Given the description of an element on the screen output the (x, y) to click on. 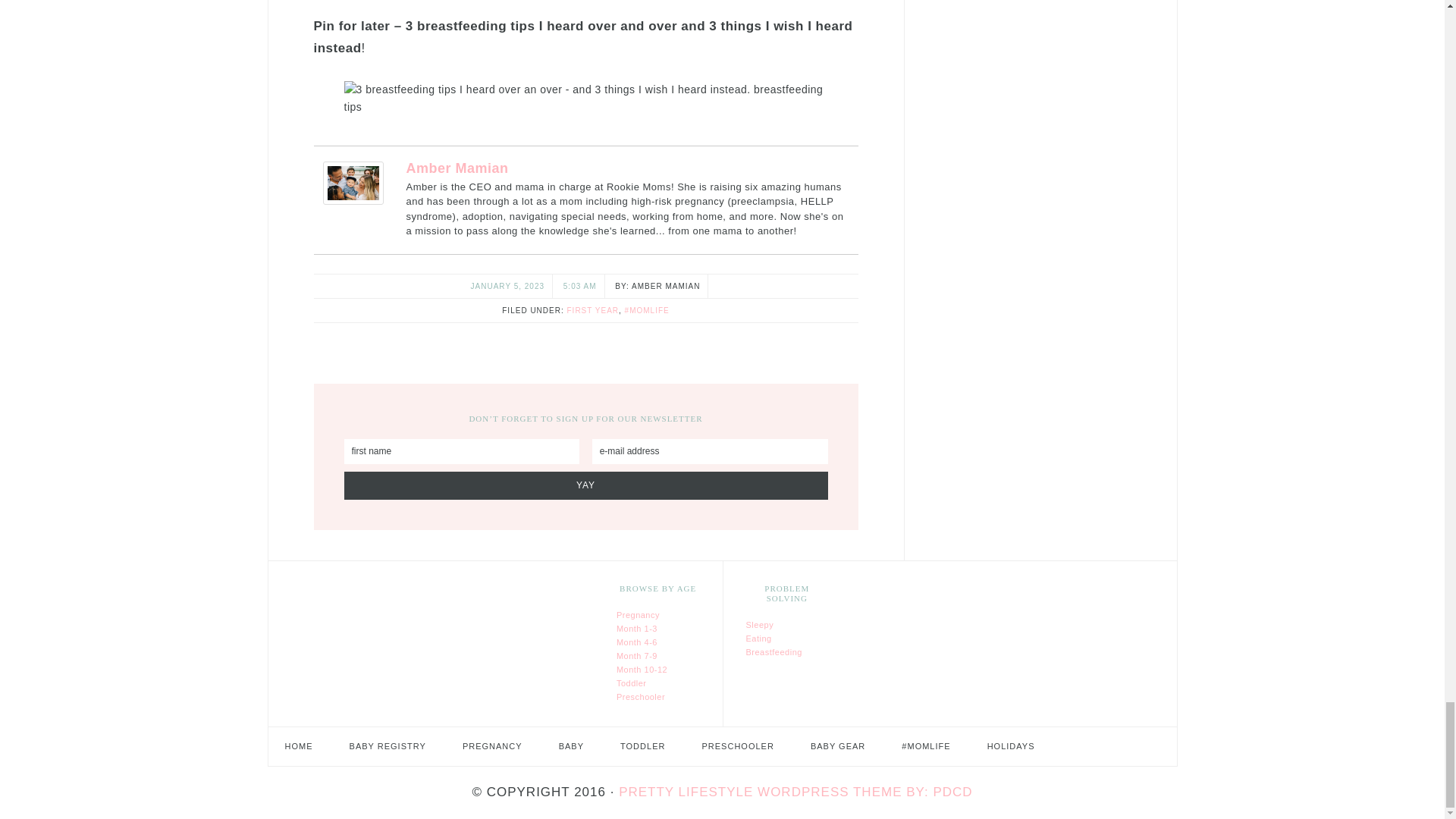
YAY (585, 485)
Amber Mamian (353, 200)
Amber Mamian (457, 168)
